Given the description of an element on the screen output the (x, y) to click on. 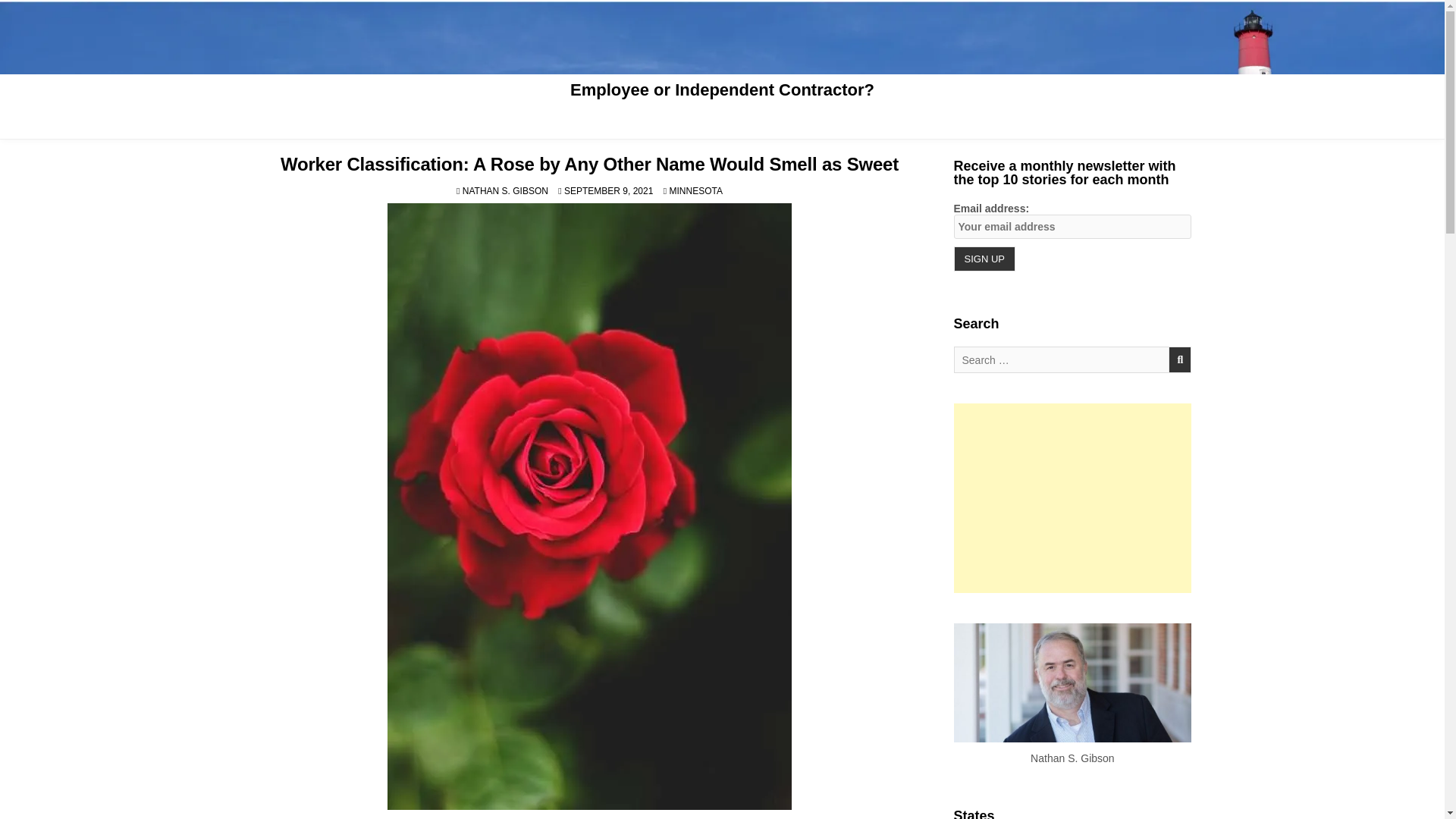
Sign up (983, 258)
Unsplash (524, 818)
MINNESOTA (695, 190)
Advertisement (1072, 497)
Sign up (983, 258)
NATHAN S. GIBSON (505, 190)
Employee or Independent Contractor? (722, 89)
